Given the description of an element on the screen output the (x, y) to click on. 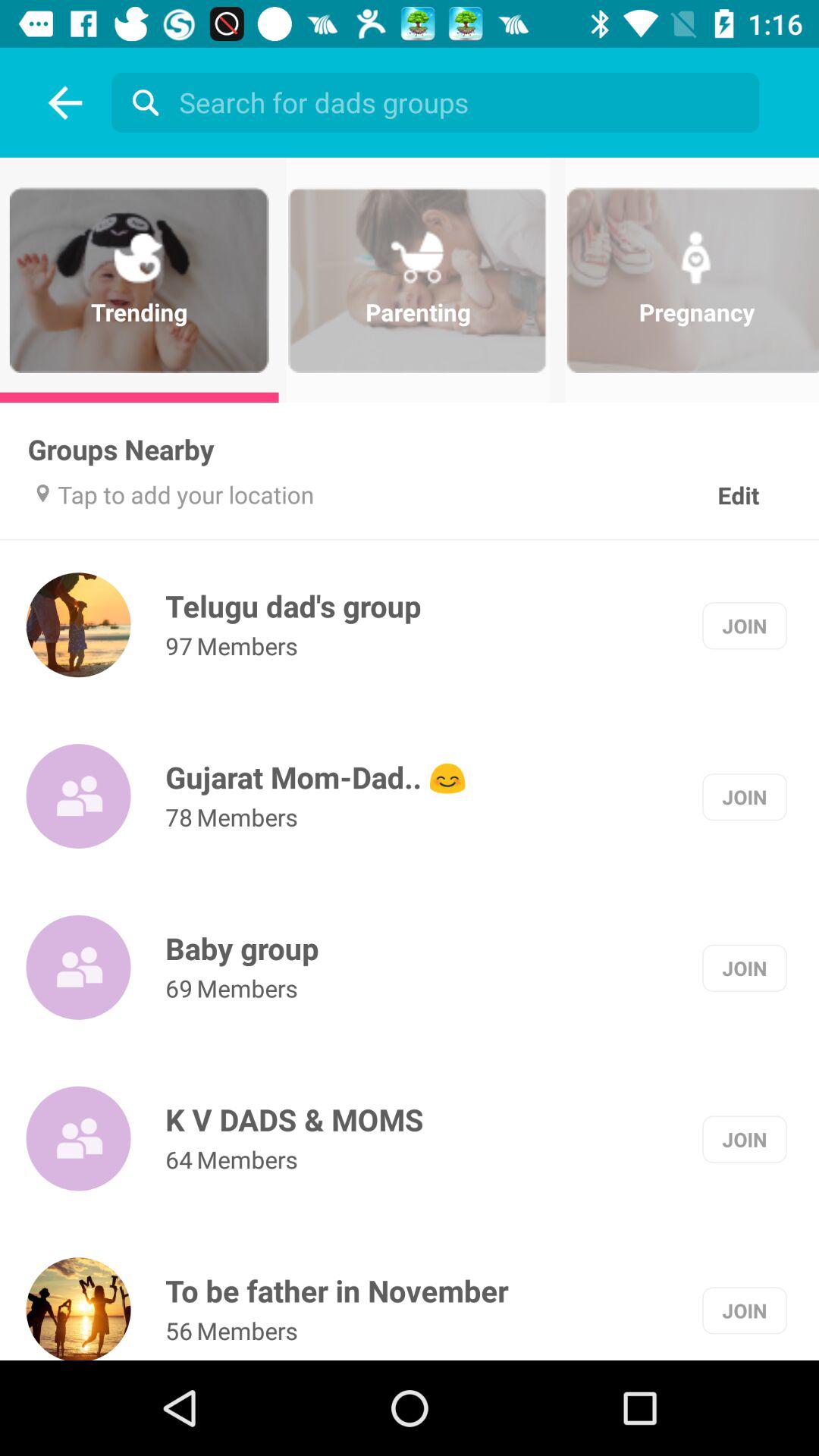
tap icon next to join item (242, 948)
